Given the description of an element on the screen output the (x, y) to click on. 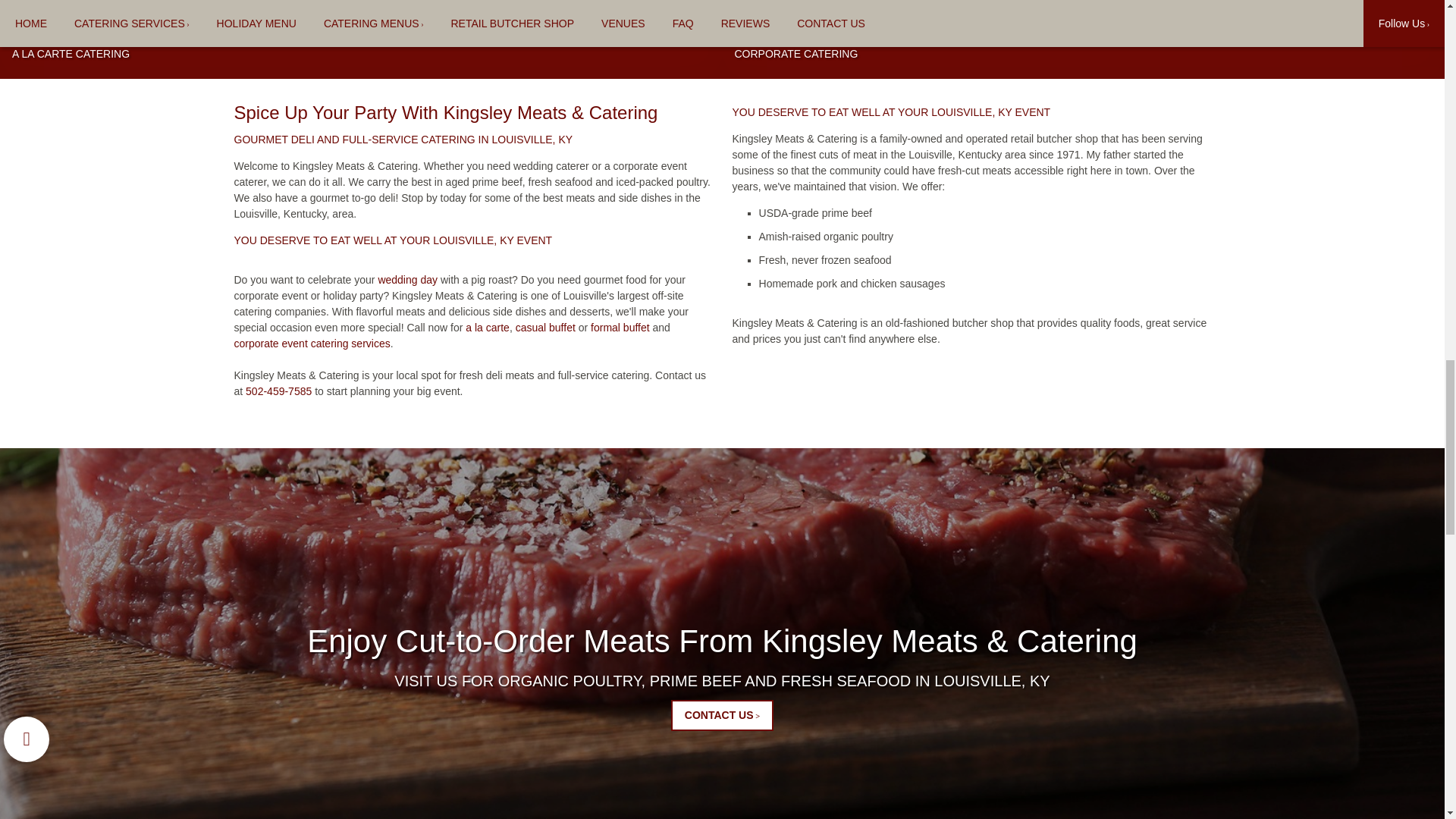
Casual Buffet (545, 327)
A-La-Carte Catering (487, 327)
